Given the description of an element on the screen output the (x, y) to click on. 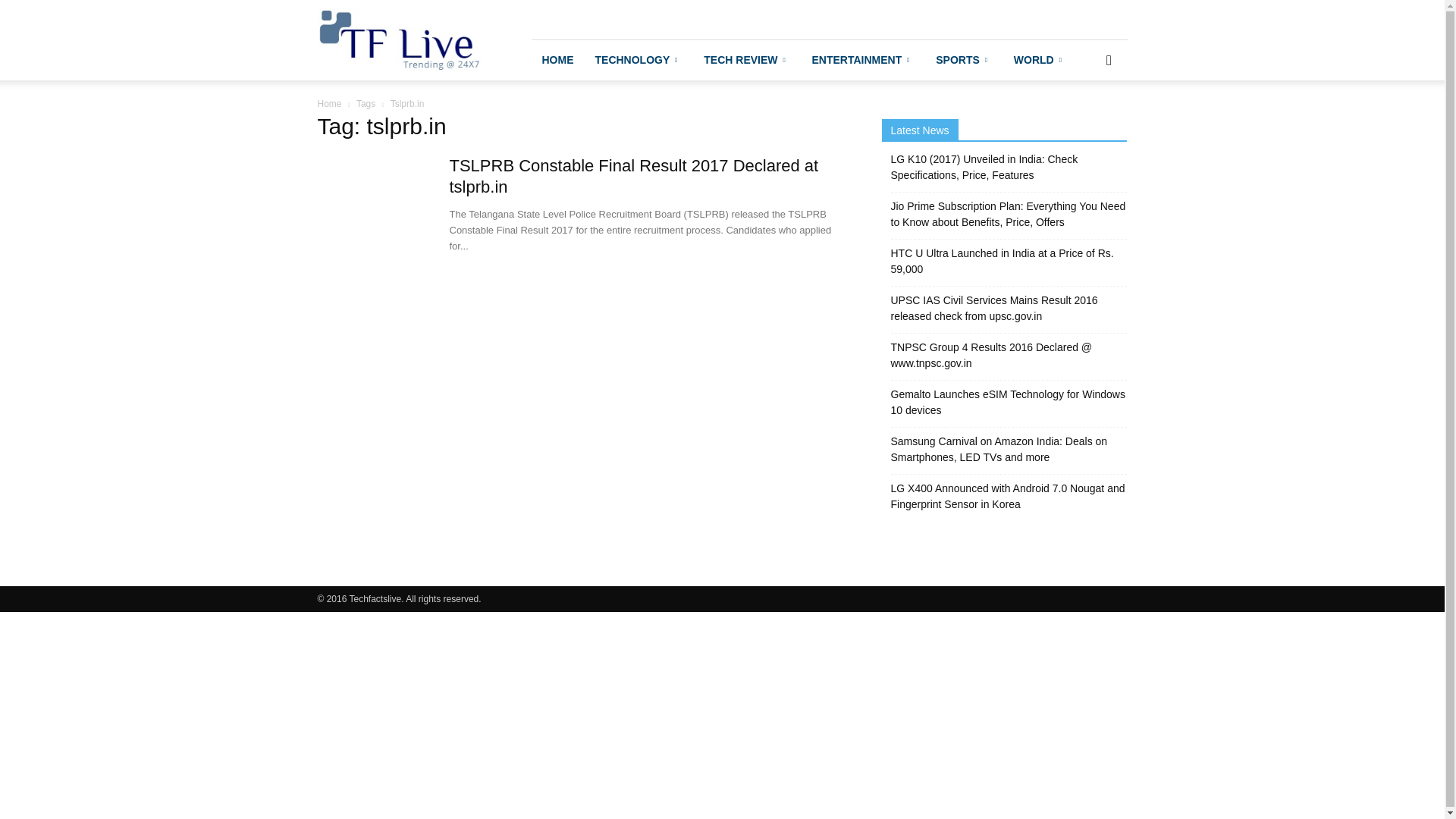
HOME (557, 60)
TECH REVIEW (746, 60)
TECHNOLOGY (638, 60)
TF Live (399, 39)
